Given the description of an element on the screen output the (x, y) to click on. 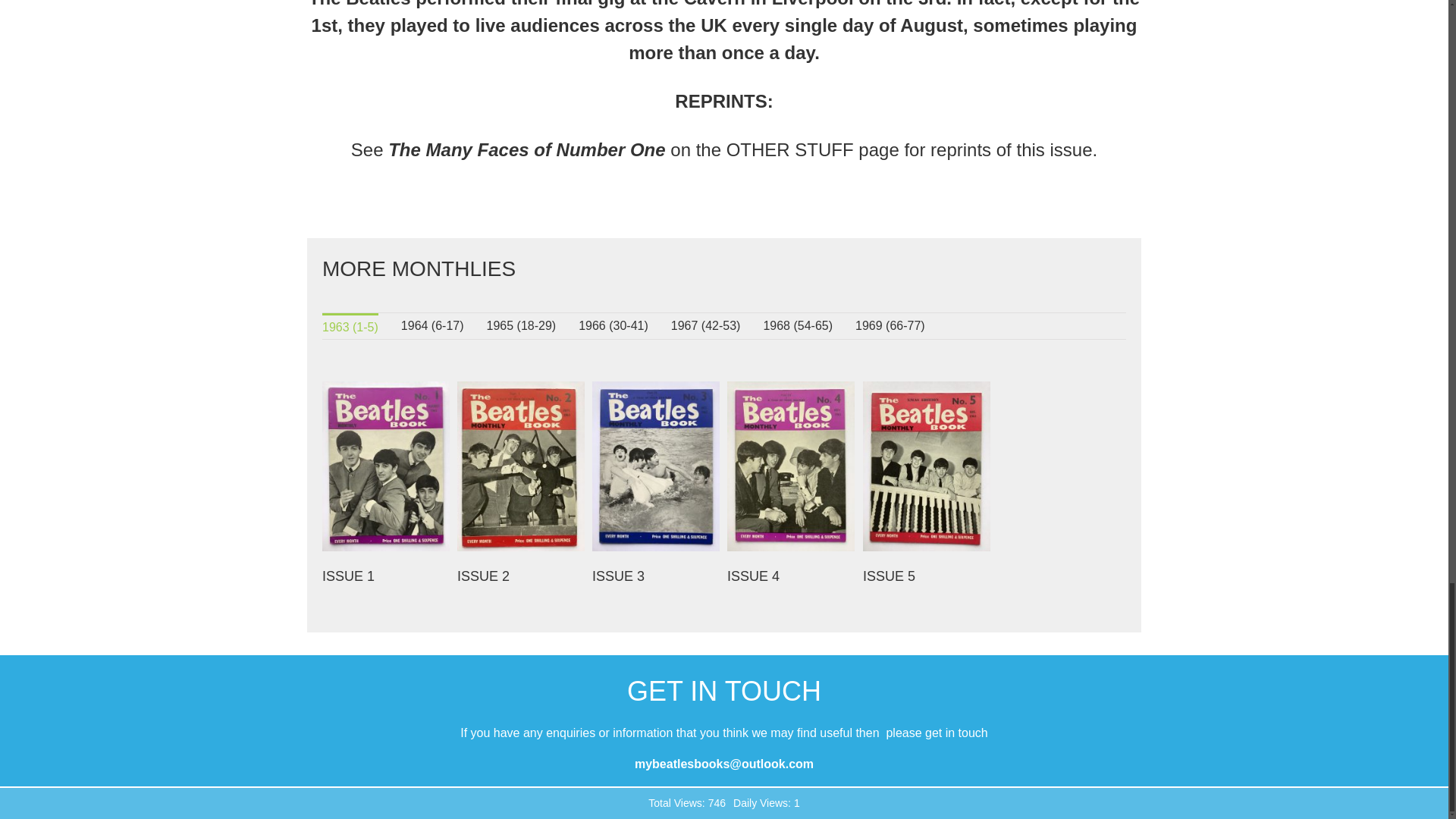
ISSUE 1 (347, 575)
ISSUE 3 (618, 575)
ISSUE 2 (483, 575)
ISSUE 4 (752, 575)
ISSUE 5 (889, 575)
